Given the description of an element on the screen output the (x, y) to click on. 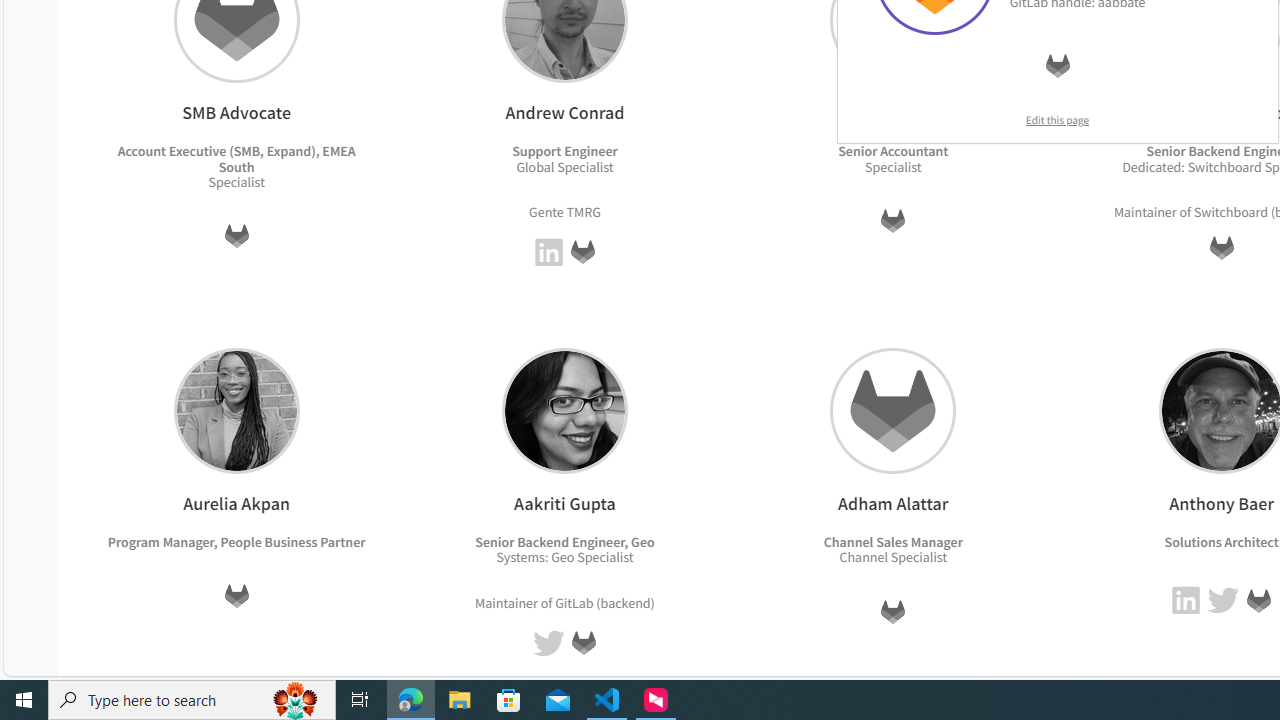
Gente TMRG (564, 210)
Adham Alattar (893, 410)
Aurelia Akpan (235, 410)
Solutions Architect (1220, 541)
GitLab (1258, 600)
Senior Accountant (893, 151)
